Given the description of an element on the screen output the (x, y) to click on. 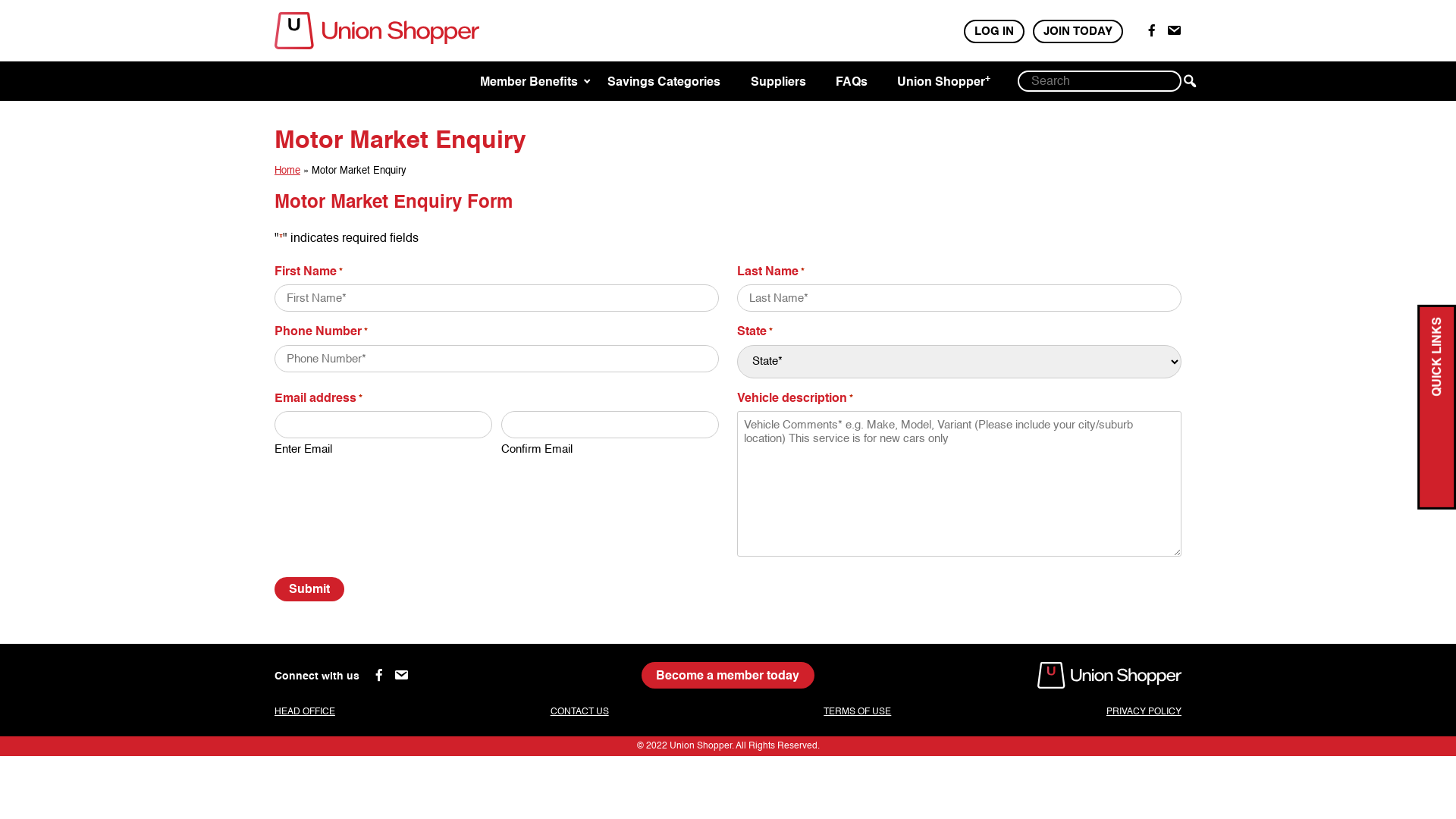
FAQs Element type: text (851, 81)
PRIVACY POLICY Element type: text (1143, 711)
Member Benefits Element type: text (528, 81)
CONTACT US Element type: text (579, 711)
Submit Element type: text (309, 589)
TERMS OF USE Element type: text (857, 711)
Become a member today Element type: text (727, 675)
Suppliers Element type: text (778, 81)
JOIN TODAY Element type: text (1077, 31)
Savings Categories Element type: text (663, 81)
LOG IN Element type: text (993, 31)
Home Element type: text (287, 170)
Union Shopper+ Element type: text (943, 81)
HEAD OFFICE Element type: text (304, 711)
